Given the description of an element on the screen output the (x, y) to click on. 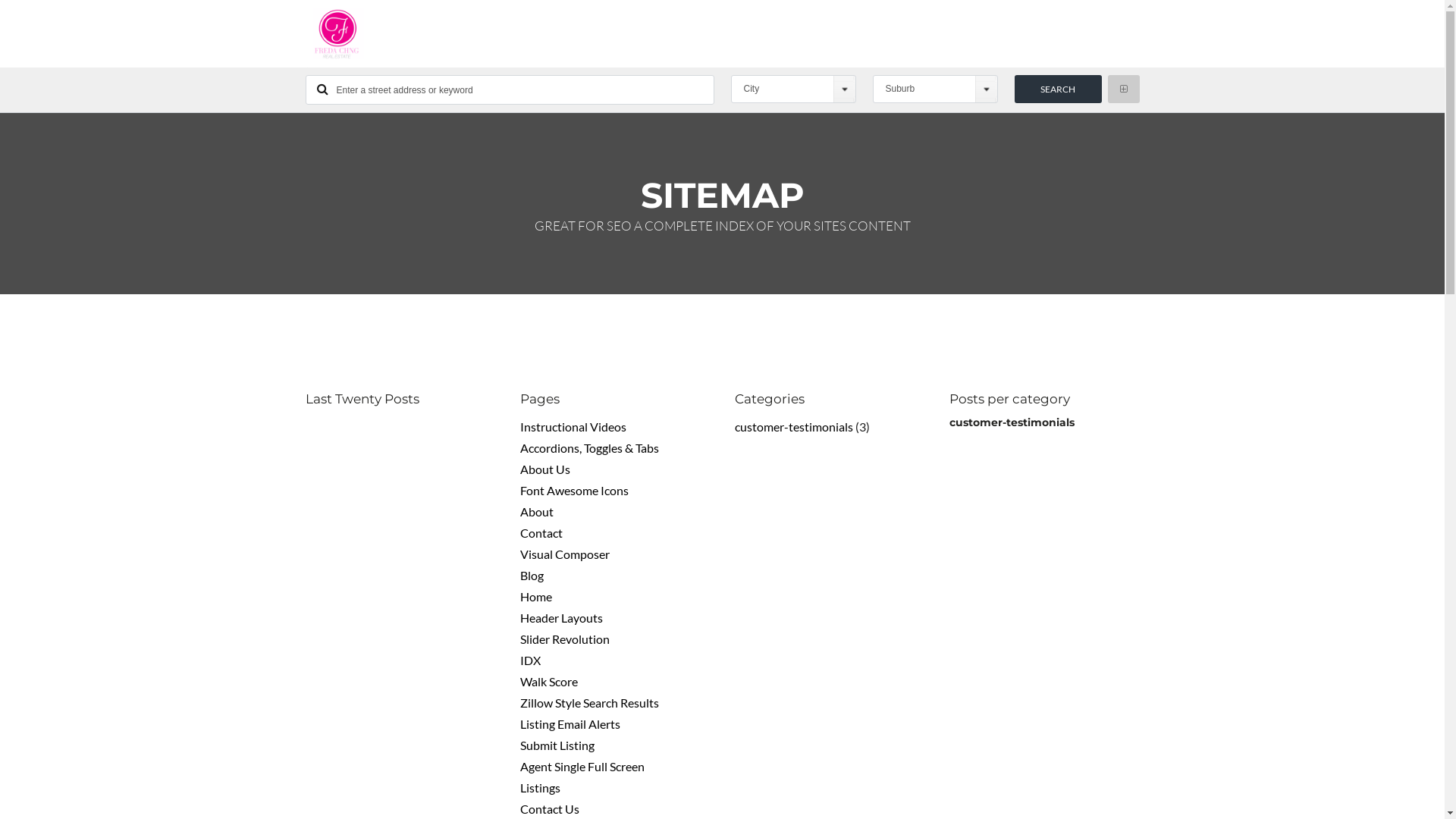
Agent Single Full Screen Element type: text (582, 766)
Font Awesome Icons Element type: text (574, 490)
Contact Element type: text (541, 532)
IDX Element type: text (530, 659)
Search Element type: text (1058, 89)
Submit Listing Element type: text (557, 744)
Walk Score Element type: text (548, 681)
Visual Composer Element type: text (564, 553)
Listing Email Alerts Element type: text (570, 723)
About Element type: text (536, 511)
Contact Us Element type: text (549, 808)
Instructional Videos Element type: text (573, 426)
Zillow Style Search Results Element type: text (589, 702)
Home Element type: text (536, 596)
Blog Element type: text (531, 574)
Slider Revolution Element type: text (564, 638)
Header Layouts Element type: text (561, 617)
Login Element type: text (678, 607)
About Us Element type: text (545, 468)
customer-testimonials Element type: text (793, 426)
Accordions, Toggles & Tabs Element type: text (589, 447)
Listings Element type: text (540, 787)
